Given the description of an element on the screen output the (x, y) to click on. 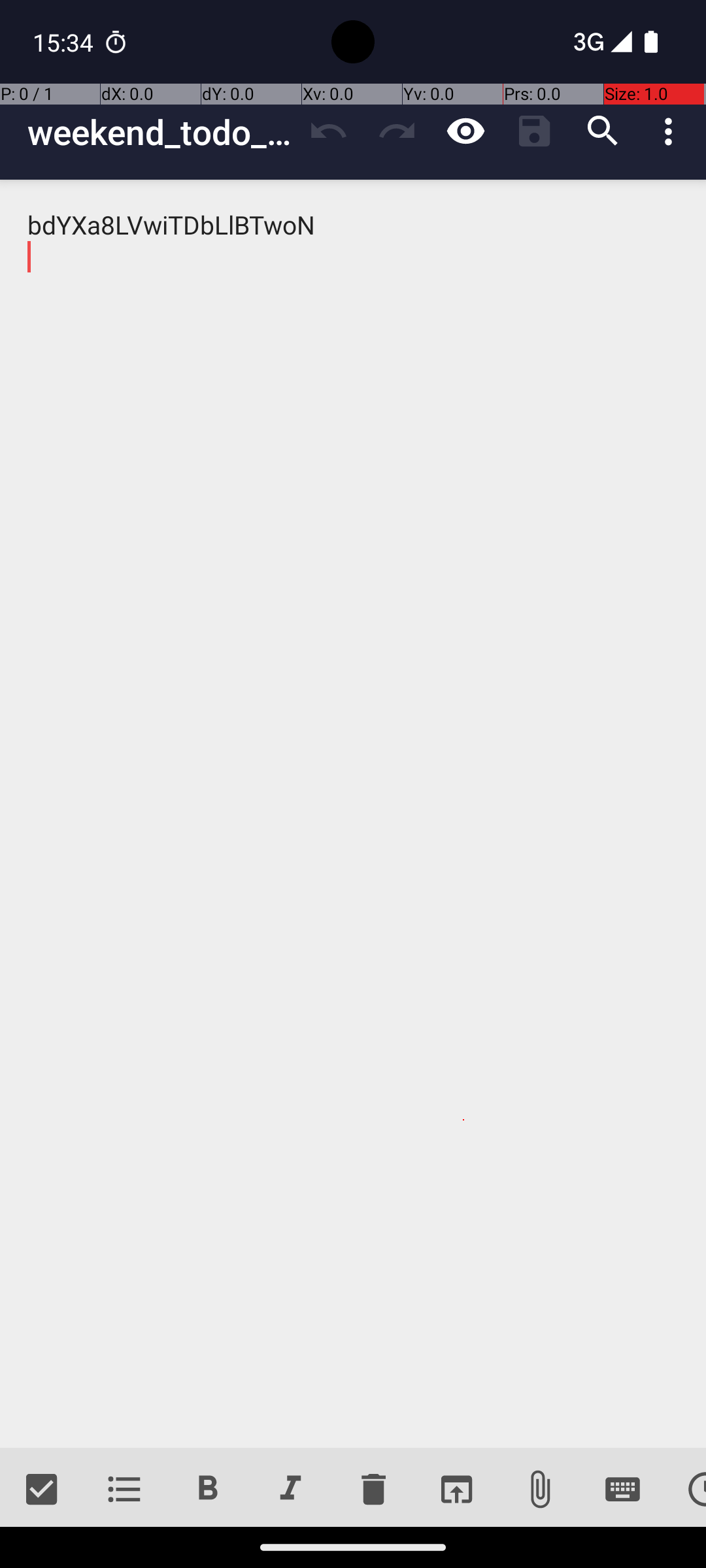
weekend_todo_list_edited Element type: android.widget.TextView (160, 131)
bdYXa8LVwiTDbLlBTwoN
 Element type: android.widget.EditText (353, 813)
